Given the description of an element on the screen output the (x, y) to click on. 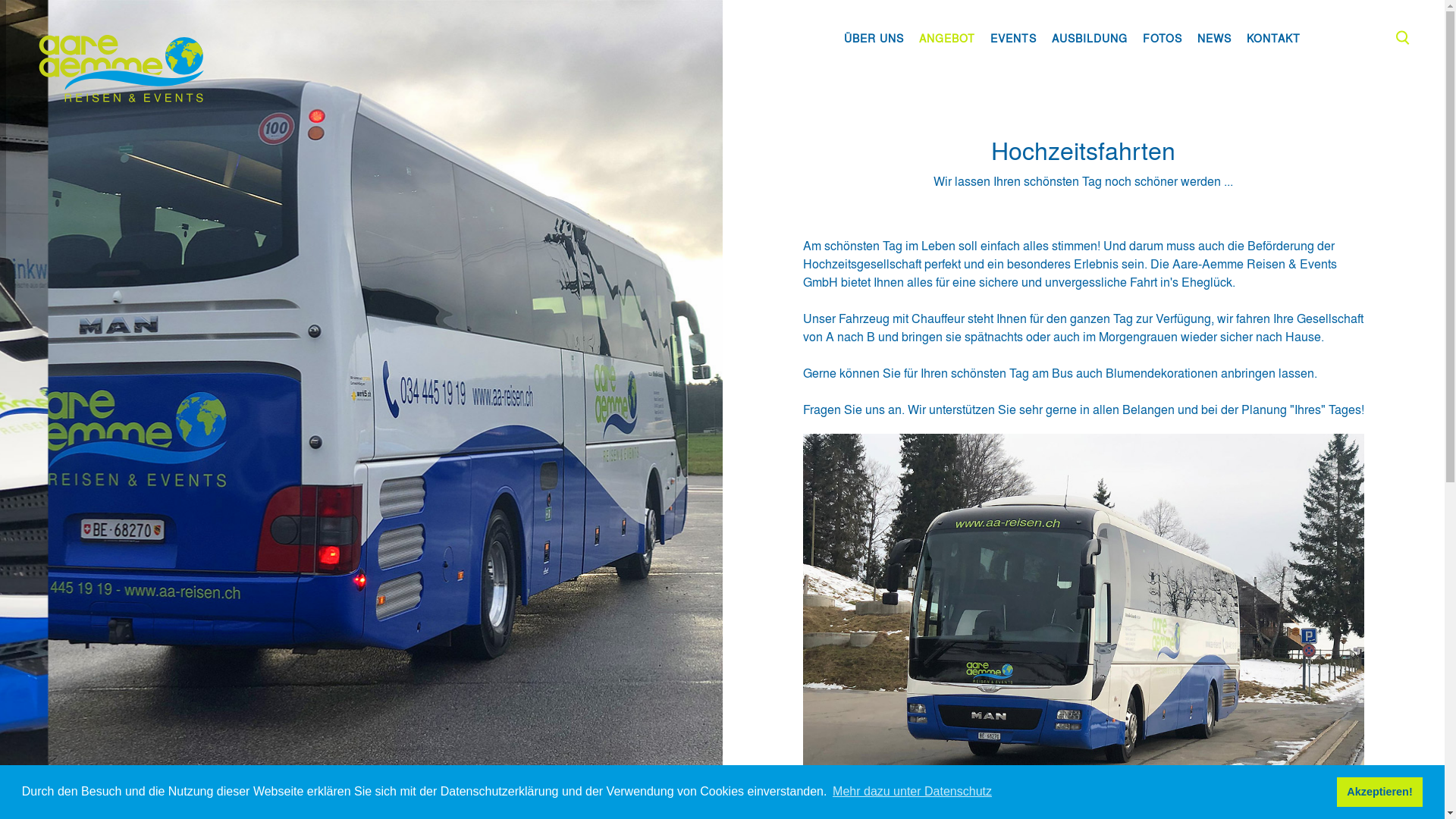
NEWS Element type: text (1214, 37)
Akzeptieren! Element type: text (1379, 791)
Mehr dazu unter Datenschutz Element type: text (912, 791)
ANGEBOT Element type: text (947, 37)
FOTOS Element type: text (1162, 37)
KONTAKT Element type: text (1273, 37)
EVENTS Element type: text (1013, 37)
AUSBILDUNG Element type: text (1089, 37)
